Given the description of an element on the screen output the (x, y) to click on. 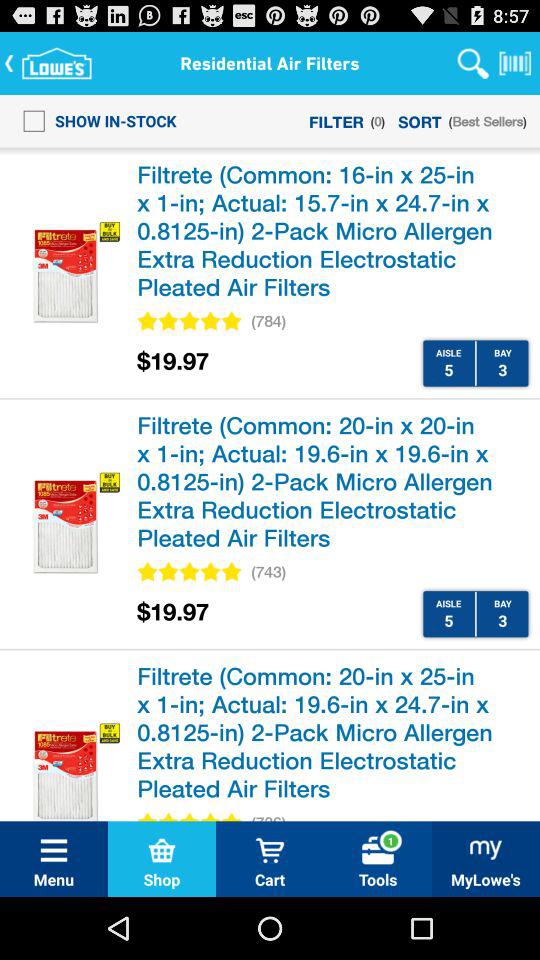
tap sort icon (419, 120)
